Given the description of an element on the screen output the (x, y) to click on. 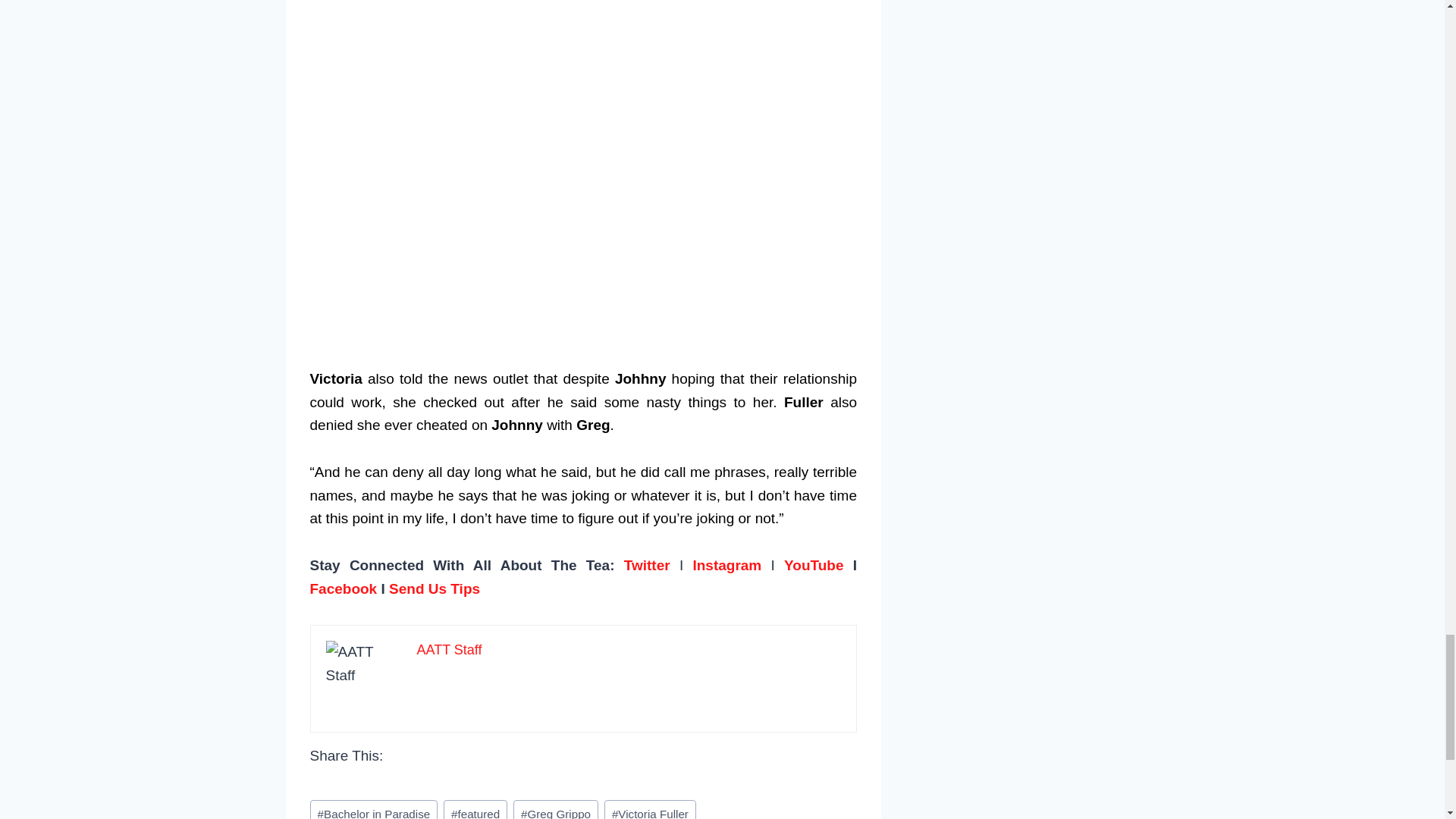
YouTube (813, 565)
Twitter (646, 565)
Facebook (342, 588)
Send Us Tips (434, 588)
Instagram (727, 565)
